Given the description of an element on the screen output the (x, y) to click on. 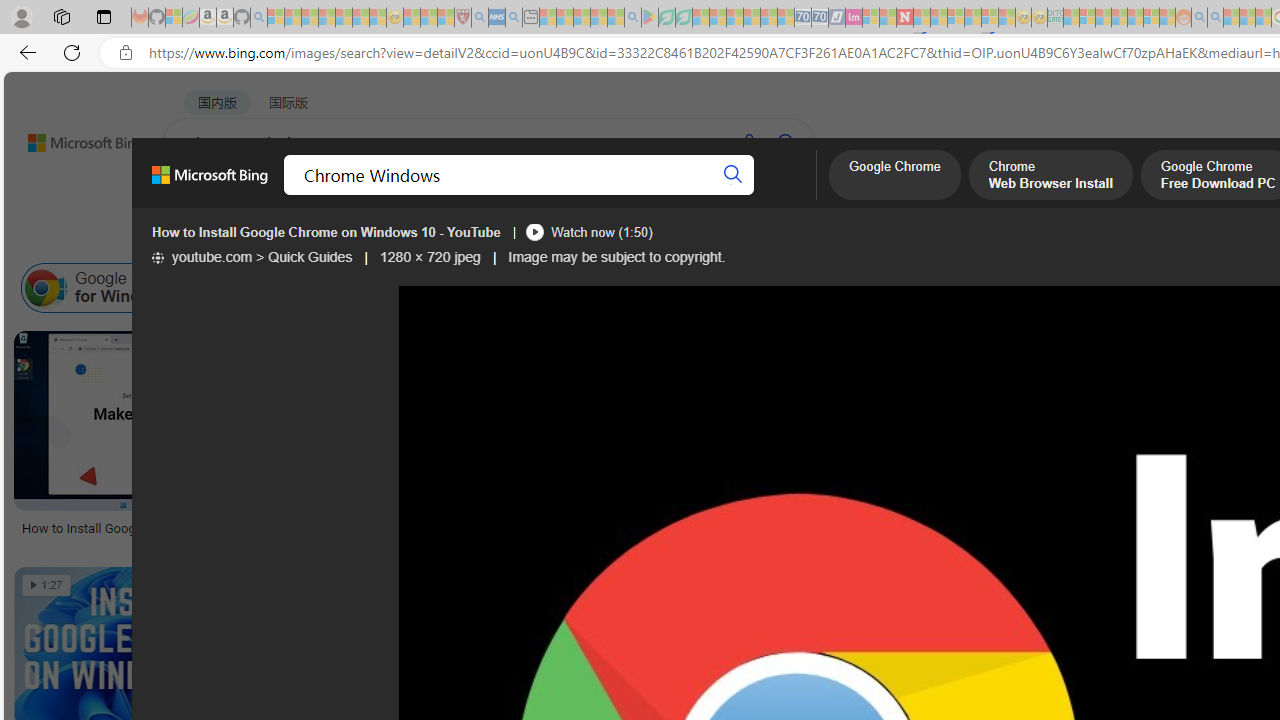
Image may be subject to copyright. (616, 257)
DICT (717, 195)
Cheap Car Rentals - Save70.com - Sleeping (802, 17)
Robert H. Shmerling, MD - Harvard Health - Sleeping (462, 17)
google - Search - Sleeping (632, 17)
Chrome Windows 1.0 (715, 287)
Image size (221, 237)
ACADEMIC (635, 195)
WEB (201, 195)
Microsoft-Report a Concern to Bing - Sleeping (173, 17)
WEB (201, 195)
